Given the description of an element on the screen output the (x, y) to click on. 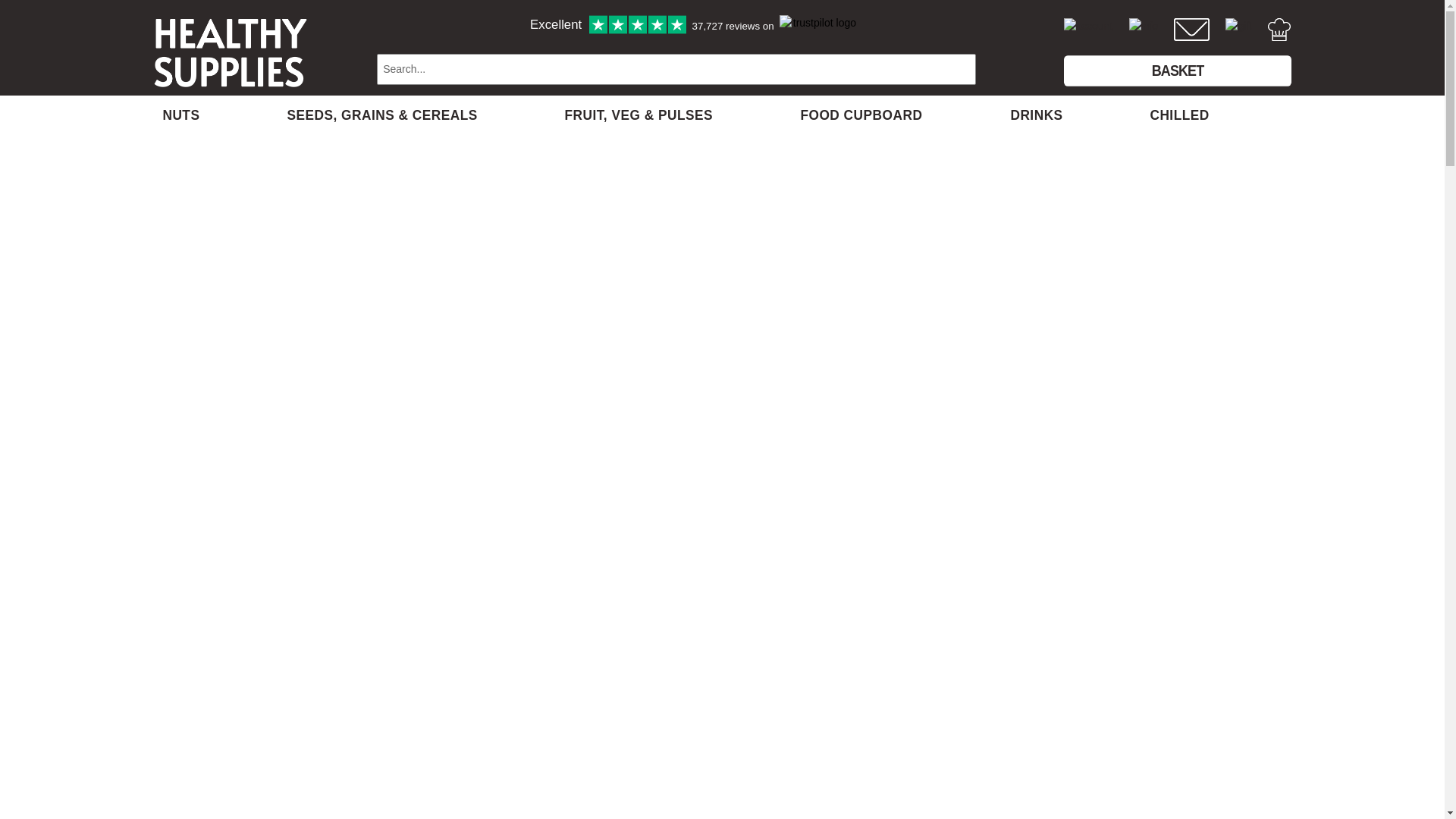
BASKET (1176, 69)
NUTS (180, 113)
